Given the description of an element on the screen output the (x, y) to click on. 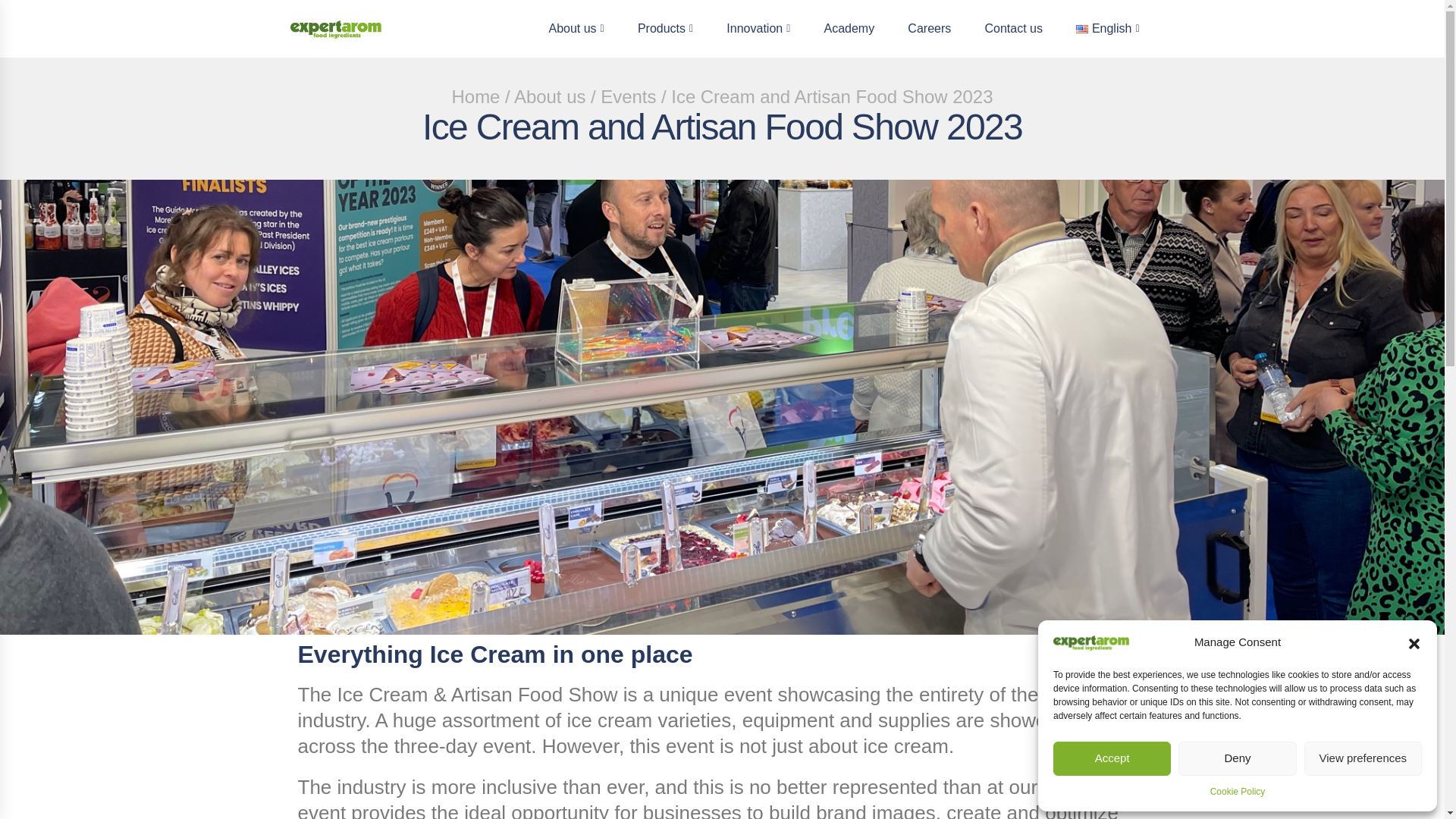
Deny (1236, 758)
View preferences (1363, 758)
Innovation (758, 28)
Careers (929, 28)
Cookie Policy (1237, 791)
About us (575, 28)
Accept (1111, 758)
Products (665, 28)
Academy (848, 28)
